Given the description of an element on the screen output the (x, y) to click on. 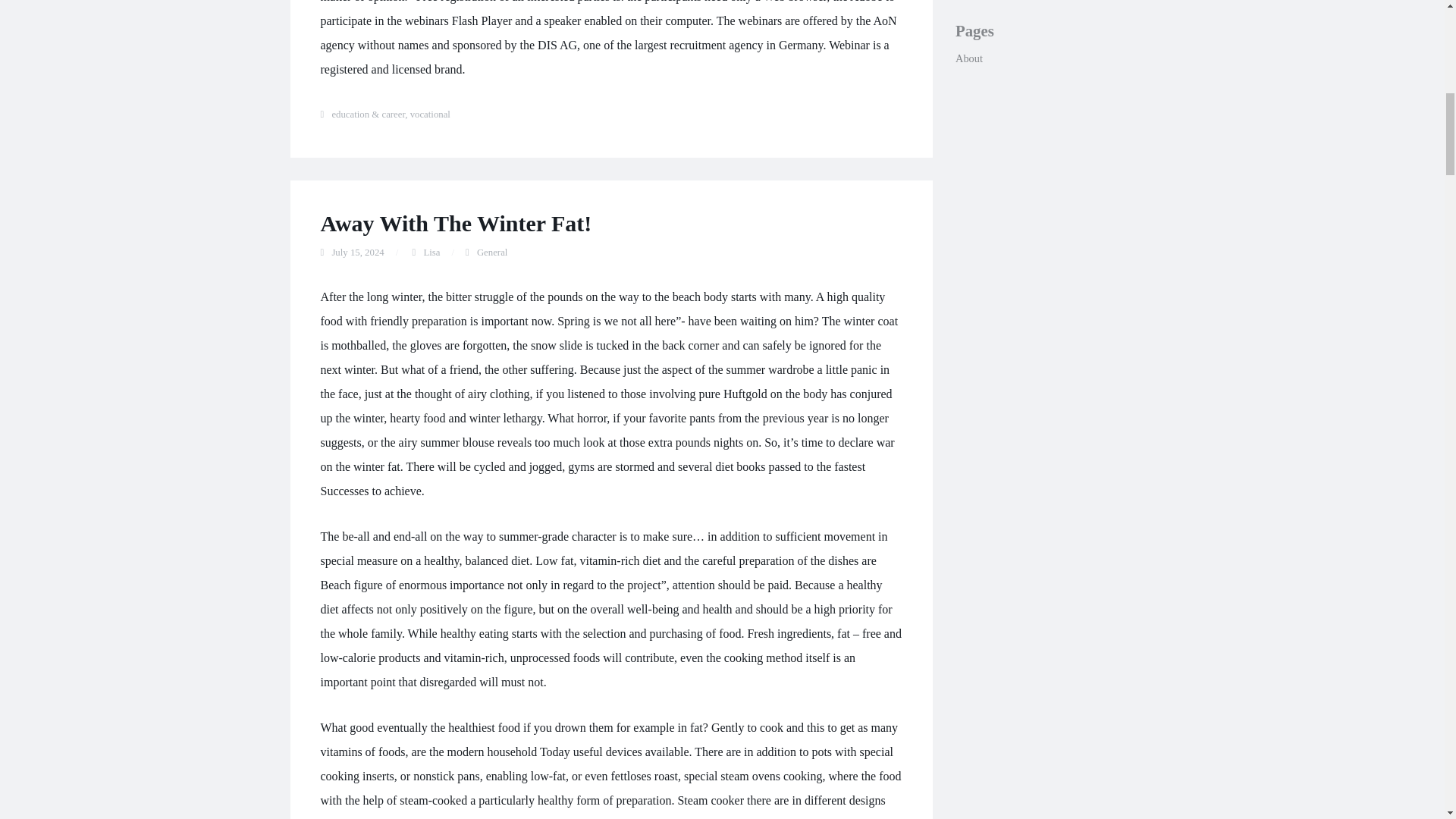
Away With The Winter Fat! (455, 222)
Lisa (431, 252)
General (492, 252)
July 15, 2024 (357, 252)
vocational (429, 113)
